Given the description of an element on the screen output the (x, y) to click on. 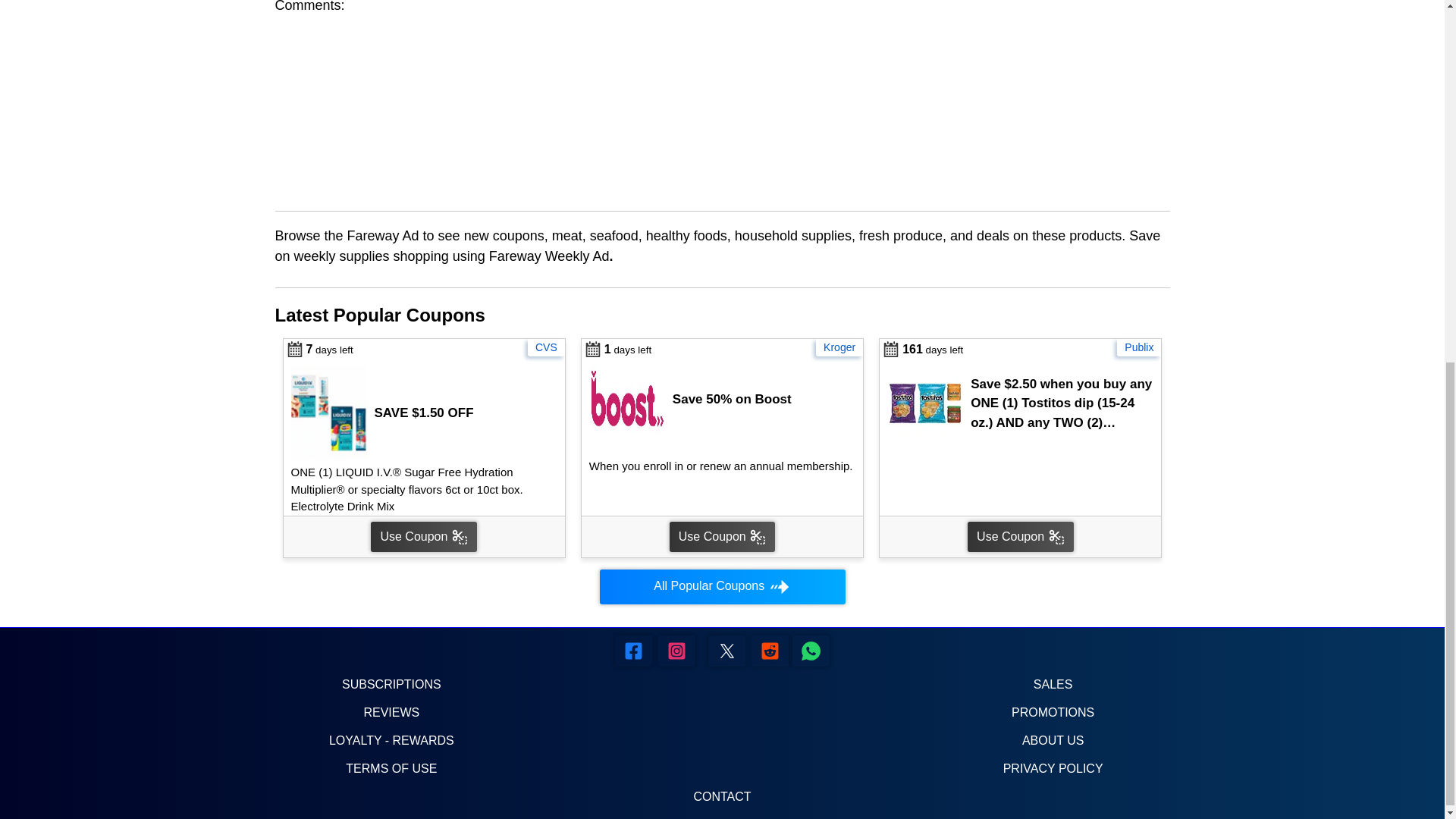
Latest Popular Coupons (379, 314)
2024-07-10 11:50 2024-07-30 04:59 (318, 350)
CVS (546, 346)
Kroger (840, 346)
Use Coupon (721, 536)
REVIEWS (390, 712)
SALES (1053, 684)
All Popular Coupons (721, 586)
2024-07-10 04:00 2024-07-24 03:59 (615, 350)
Use Coupon (423, 536)
ABOUT US (1053, 739)
SUBSCRIPTIONS (391, 684)
Publix (1138, 346)
PROMOTIONS (1052, 712)
LOYALTY - REWARDS (391, 739)
